Given the description of an element on the screen output the (x, y) to click on. 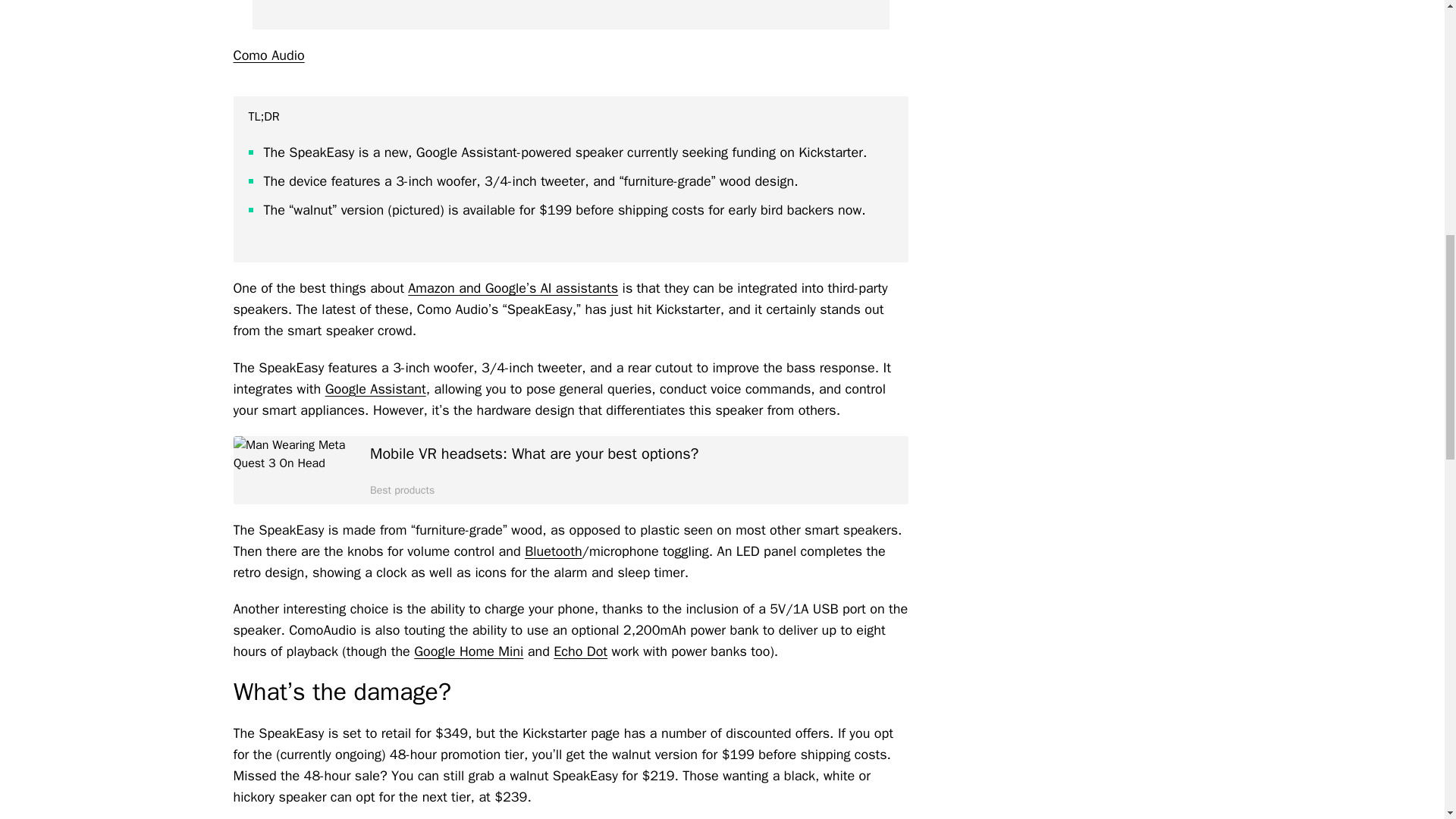
Echo Dot (580, 651)
Bluetooth (552, 550)
Google Assistant (375, 388)
speakeasy walnut speaker kitchen (569, 14)
Como Audio (268, 54)
Man Wearing Meta Quest 3 On Head (293, 469)
Google Home Mini (467, 651)
